Given the description of an element on the screen output the (x, y) to click on. 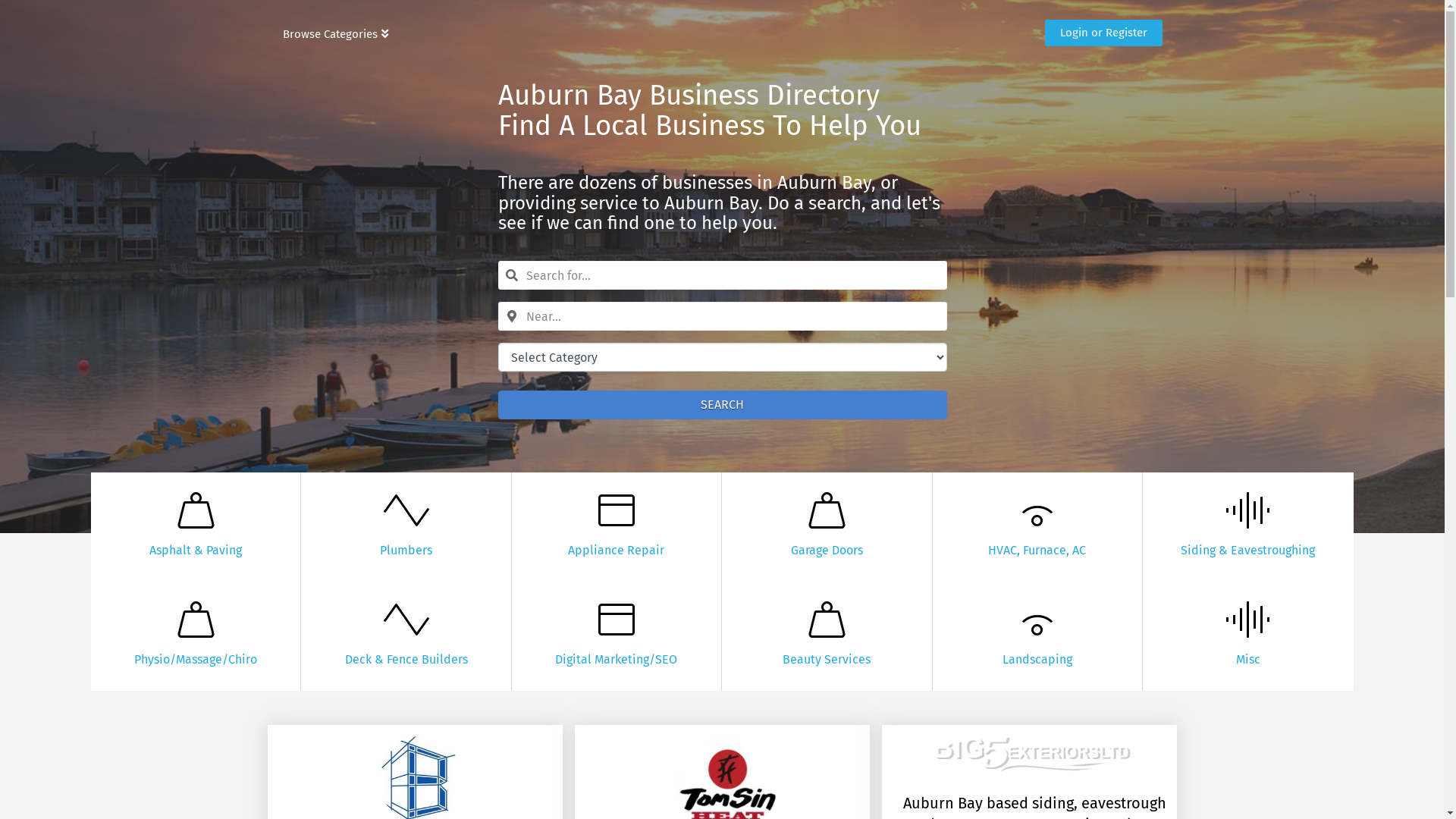
SEARCH Element type: text (721, 404)
Siding & Eavestroughing Element type: text (1247, 549)
Asphalt & Paving Element type: text (195, 549)
Plumbers Element type: text (405, 549)
Physio/Massage/Chiro Element type: text (195, 659)
Login or Register Element type: text (1103, 34)
Garage Doors Element type: text (826, 549)
HVAC, Furnace, AC Element type: text (1036, 549)
Appliance Repair Element type: text (615, 549)
Browse Categories Element type: text (334, 34)
Beauty Services Element type: text (826, 659)
Deck & Fence Builders Element type: text (406, 659)
Digital Marketing/SEO Element type: text (616, 659)
Misc Element type: text (1248, 659)
Landscaping Element type: text (1037, 659)
